Given the description of an element on the screen output the (x, y) to click on. 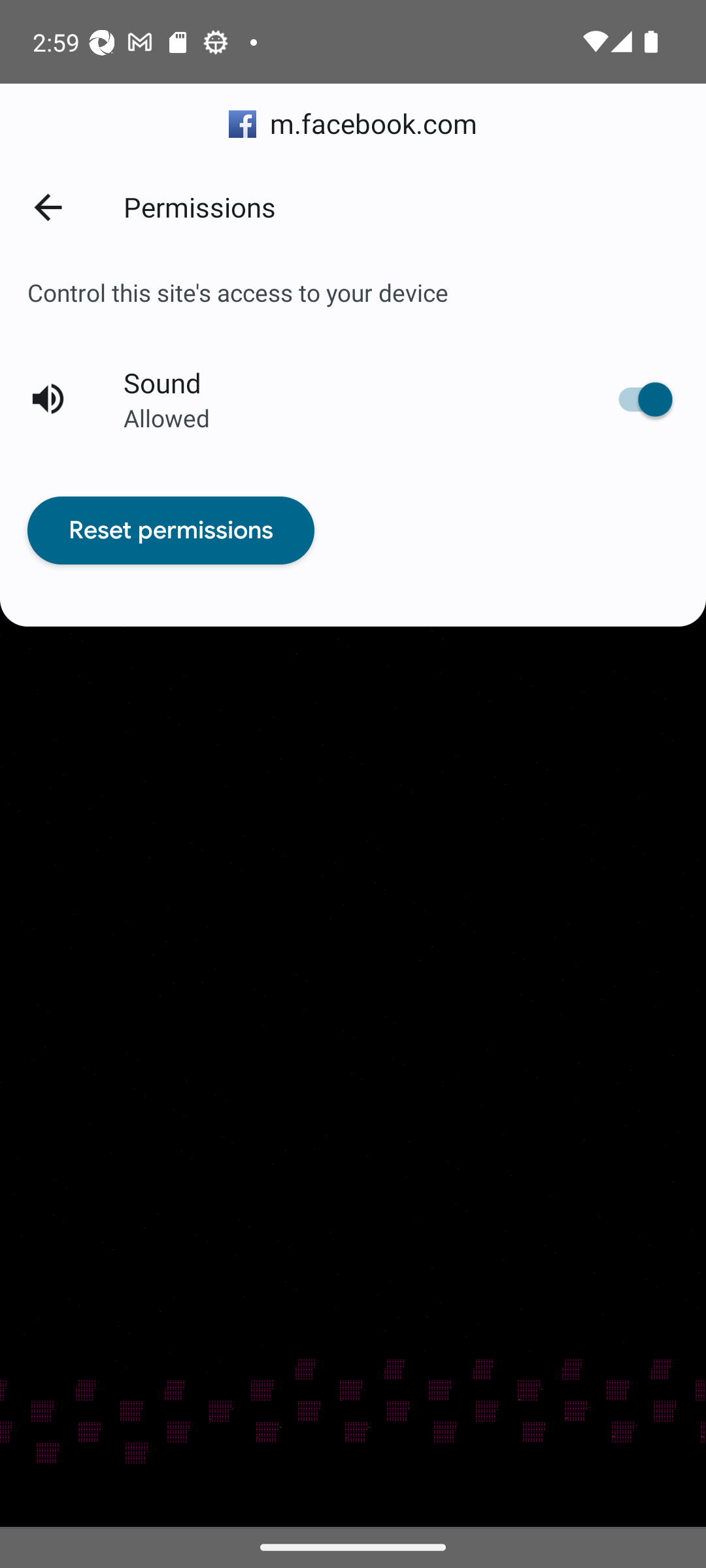
m.facebook.com (353, 124)
Back (47, 206)
Sound Allowed (353, 399)
Reset permissions (170, 530)
